Given the description of an element on the screen output the (x, y) to click on. 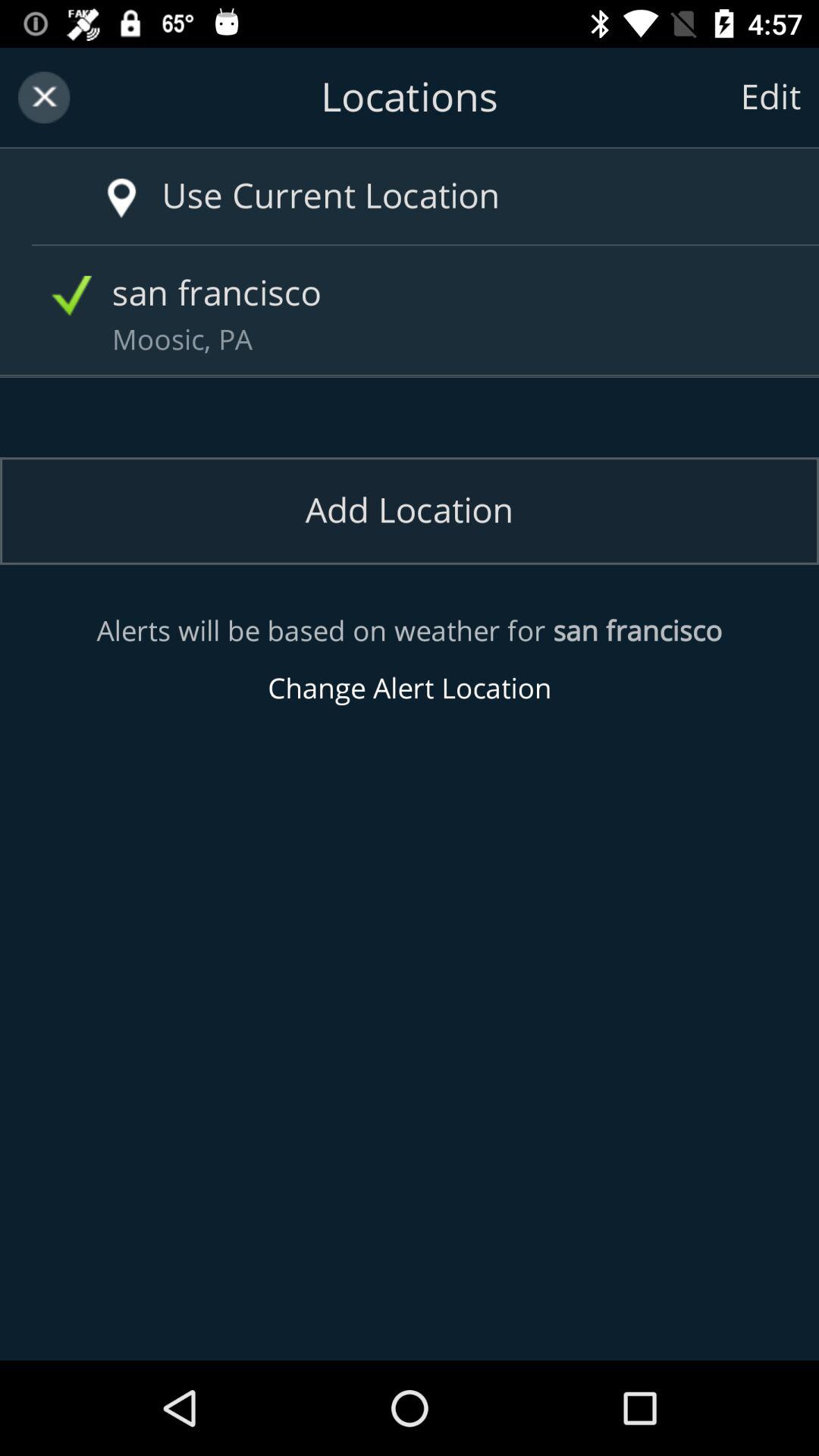
select the alerts will be item (409, 659)
